Given the description of an element on the screen output the (x, y) to click on. 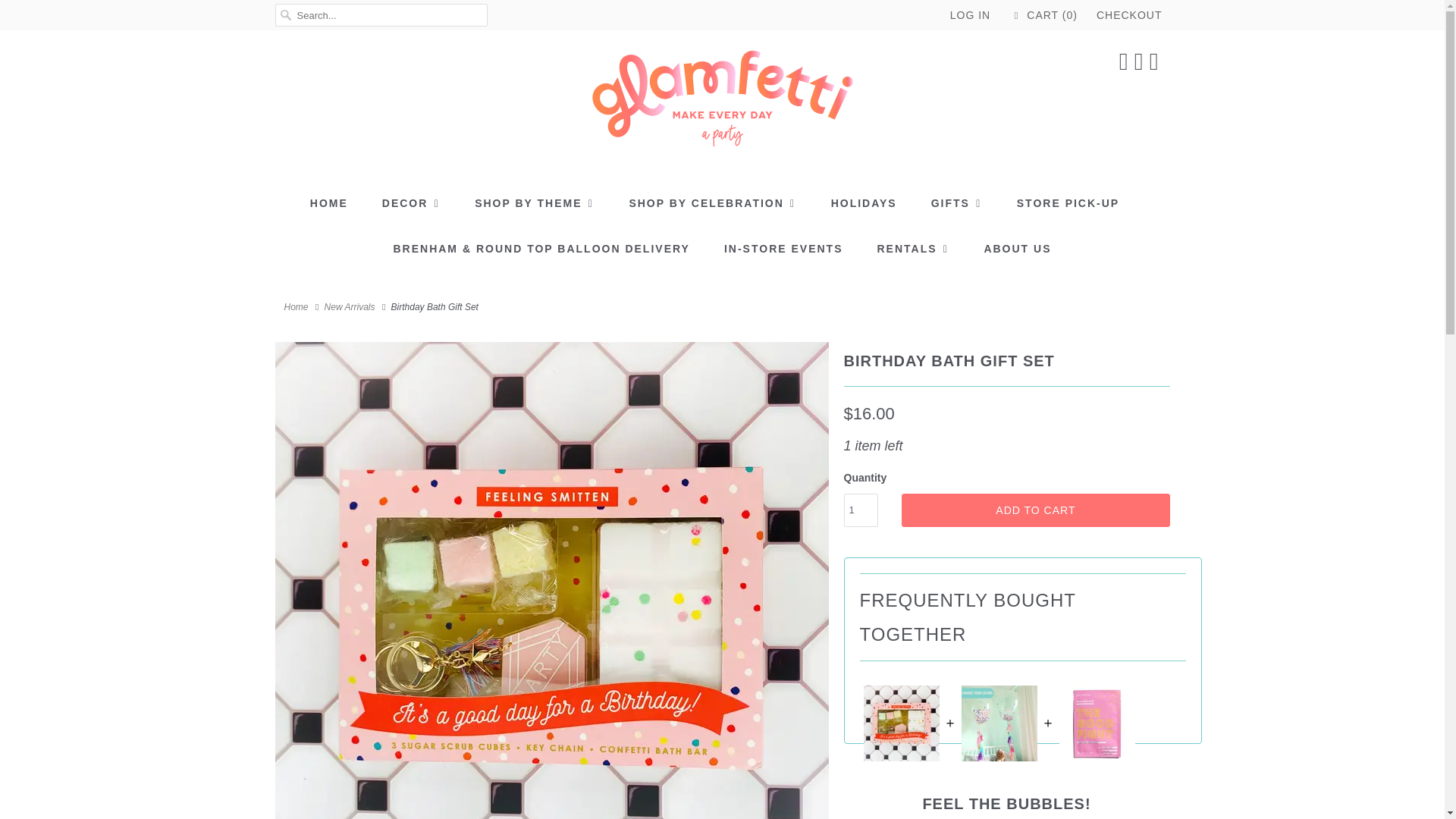
New Arrivals (349, 307)
1 (860, 510)
LOG IN (970, 15)
Glamfetti (295, 307)
Glamfetti (722, 102)
CHECKOUT (1128, 15)
